Given the description of an element on the screen output the (x, y) to click on. 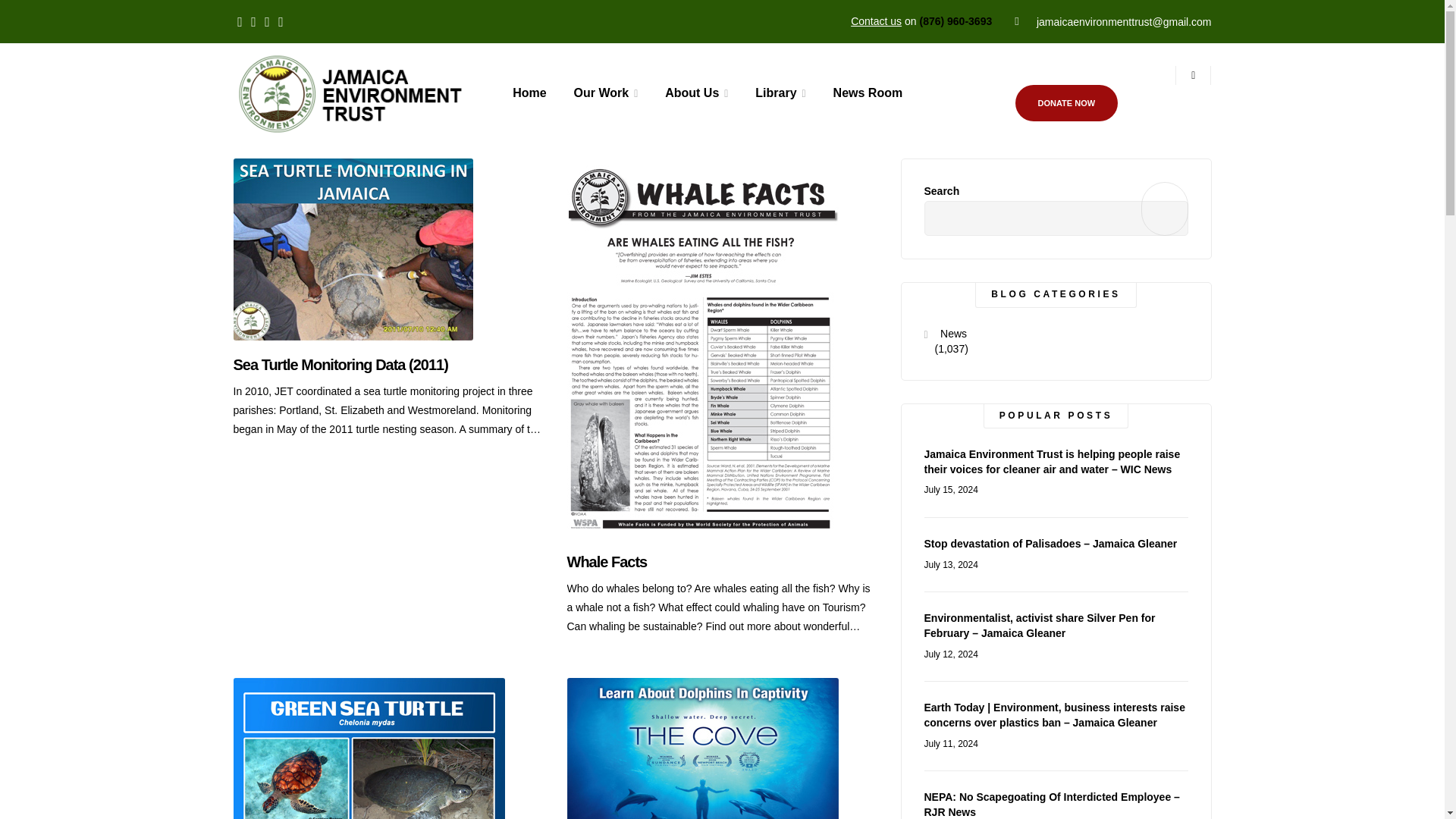
Library (779, 93)
Our Work (606, 93)
News Room (868, 93)
DONATE NOW (1066, 103)
Contact us (875, 21)
About Us (695, 93)
Home (528, 93)
